Given the description of an element on the screen output the (x, y) to click on. 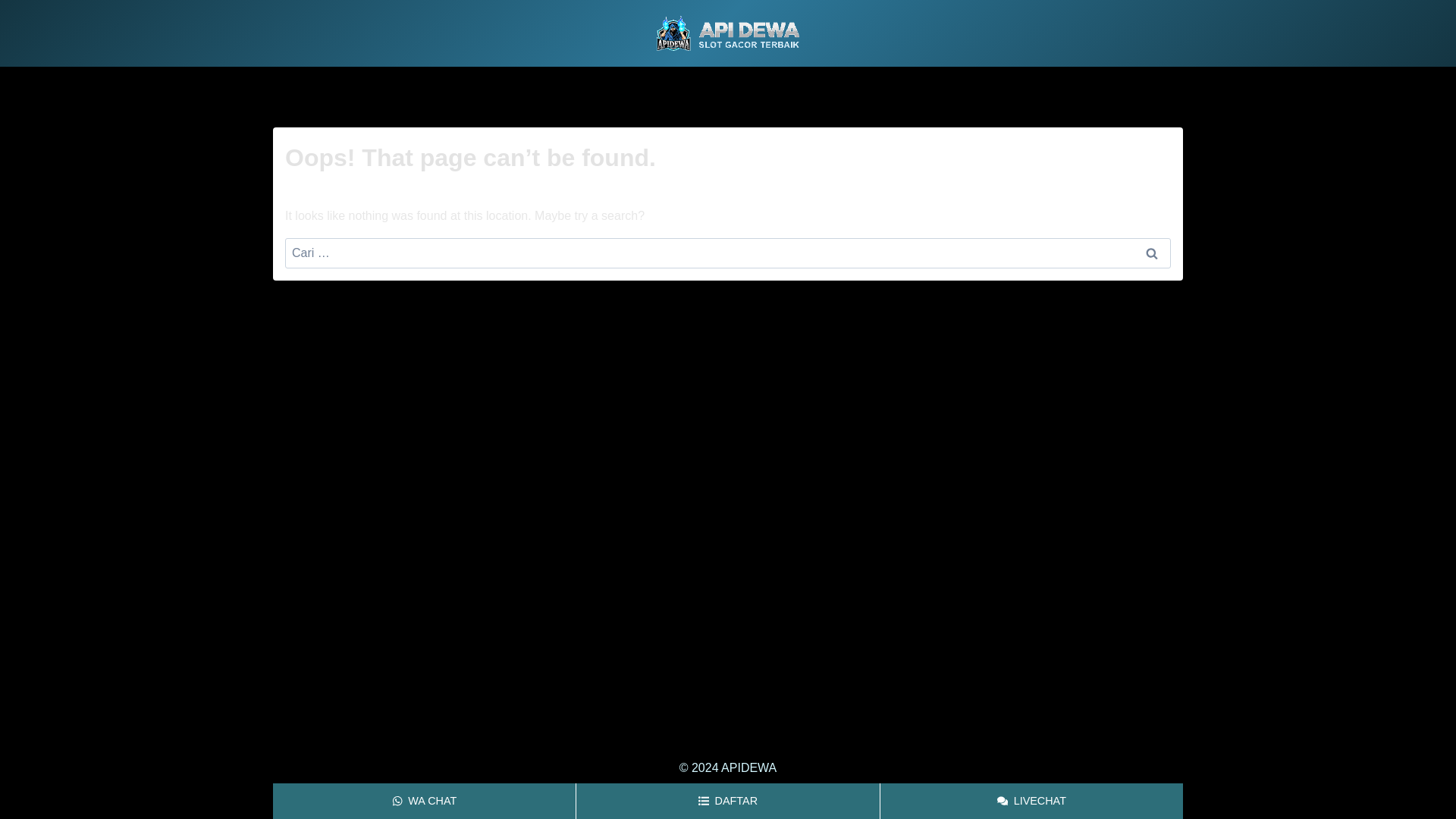
Cari (1151, 253)
Cari (1151, 253)
Cari (1151, 253)
